Given the description of an element on the screen output the (x, y) to click on. 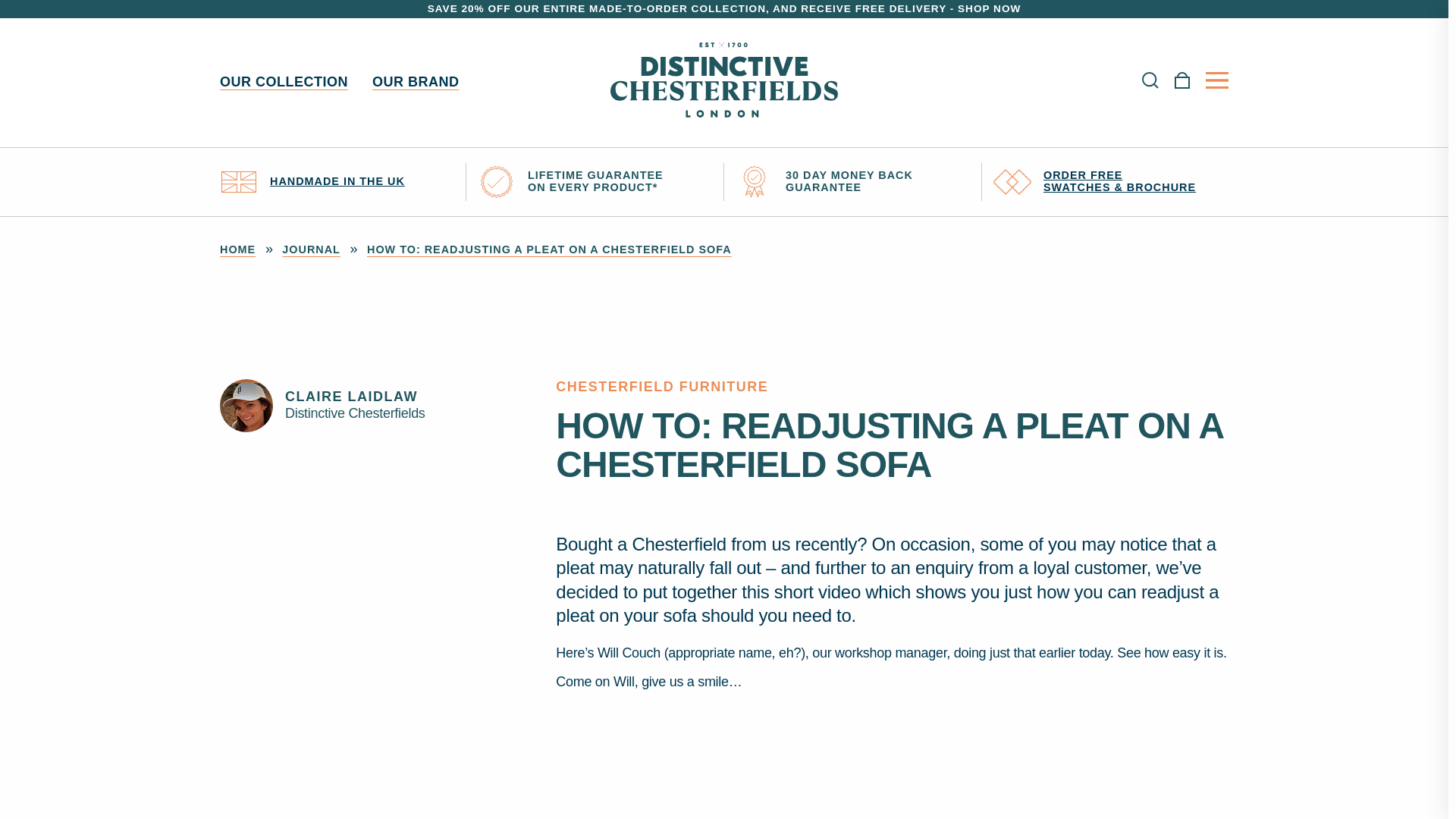
Distinctive Chesterfields UK (724, 82)
SHOP NOW (989, 8)
Menu (1216, 80)
Shop Now! (989, 8)
OUR COLLECTION (283, 81)
OUR BRAND (416, 81)
 View your shopping basket (1181, 83)
